Given the description of an element on the screen output the (x, y) to click on. 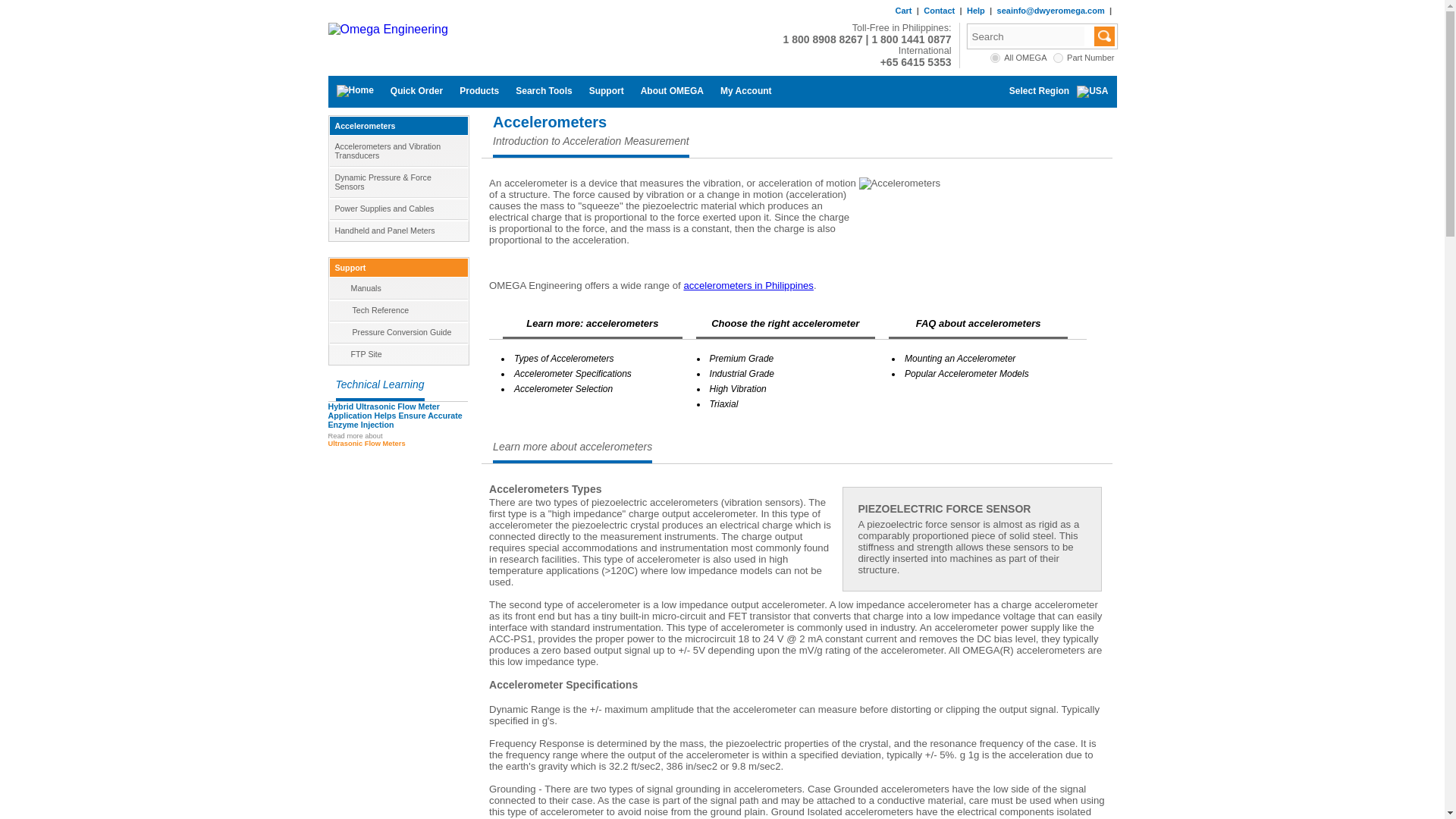
Cart (903, 10)
Contact (939, 10)
Products (478, 91)
pn (1057, 58)
Quick Order (416, 91)
allomega (995, 58)
Help (975, 10)
Search Tools (542, 91)
